Given the description of an element on the screen output the (x, y) to click on. 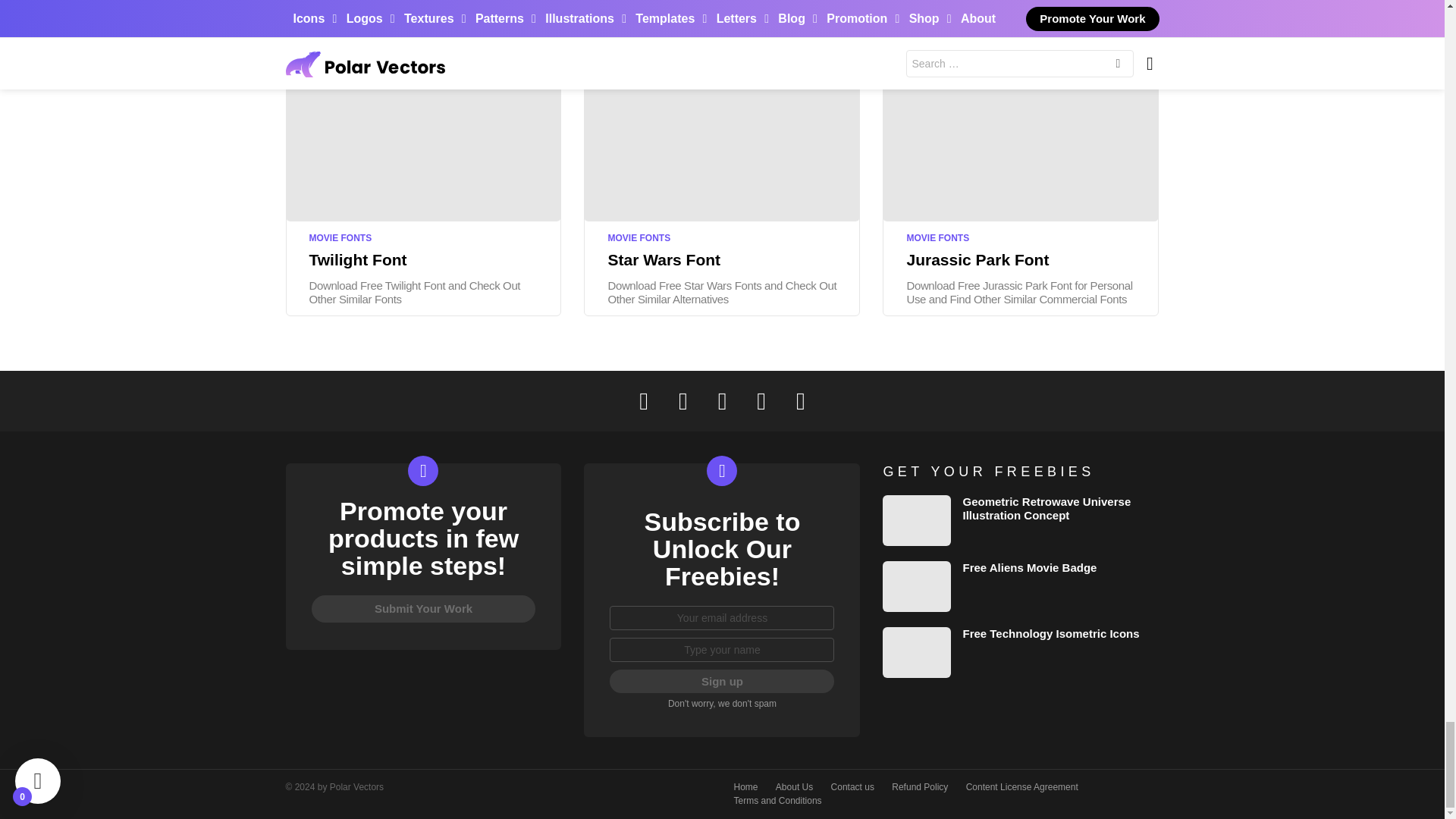
Geometric Retrowave Universe Illustration Concept (916, 520)
Jurassic Park Font (1020, 143)
Free Technology Isometric Icons (916, 652)
Sign up (722, 680)
Star Wars Font (721, 143)
Twilight Font (422, 143)
Free Aliens Movie Badge (916, 586)
